Given the description of an element on the screen output the (x, y) to click on. 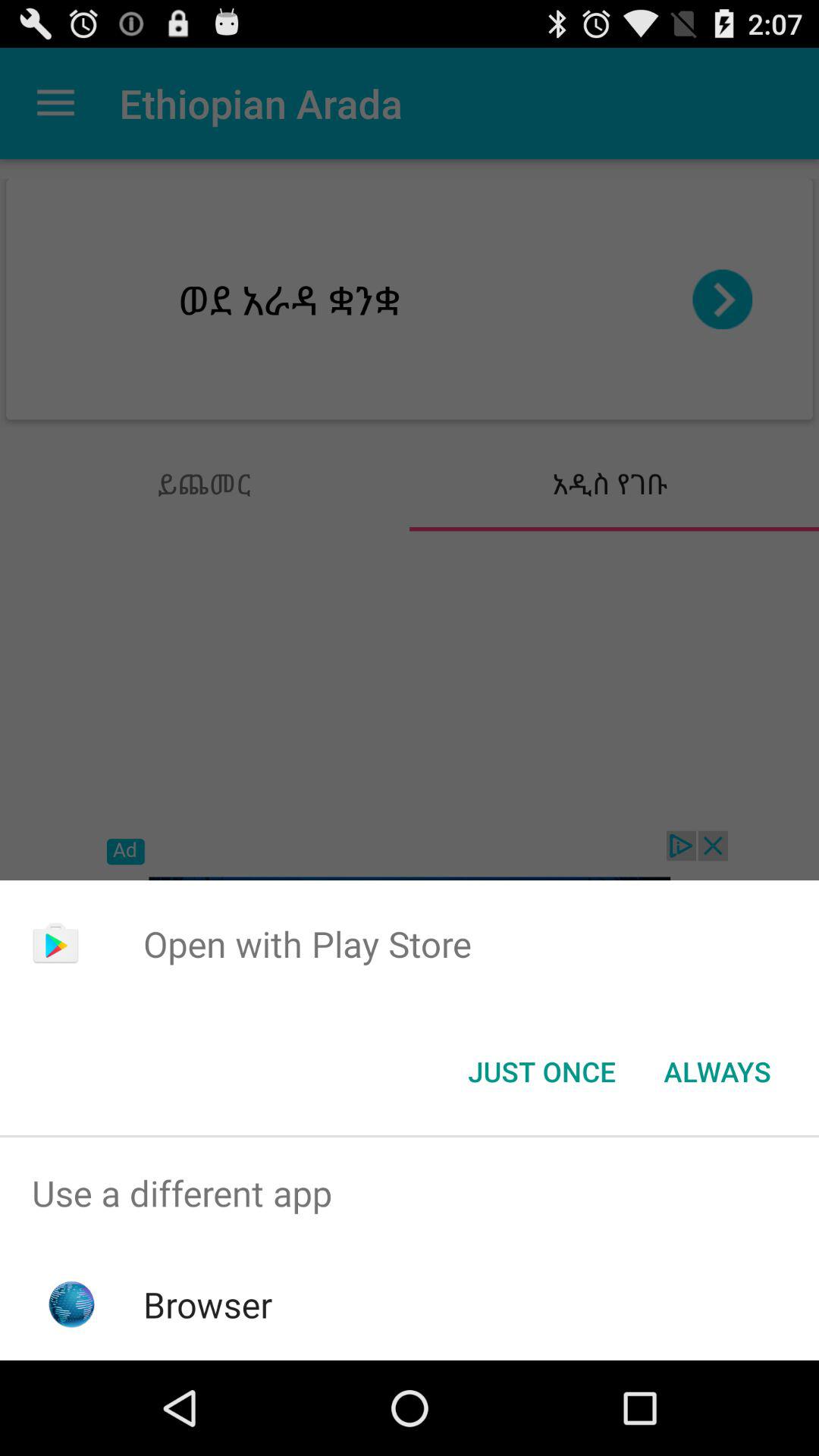
press use a different icon (409, 1192)
